Given the description of an element on the screen output the (x, y) to click on. 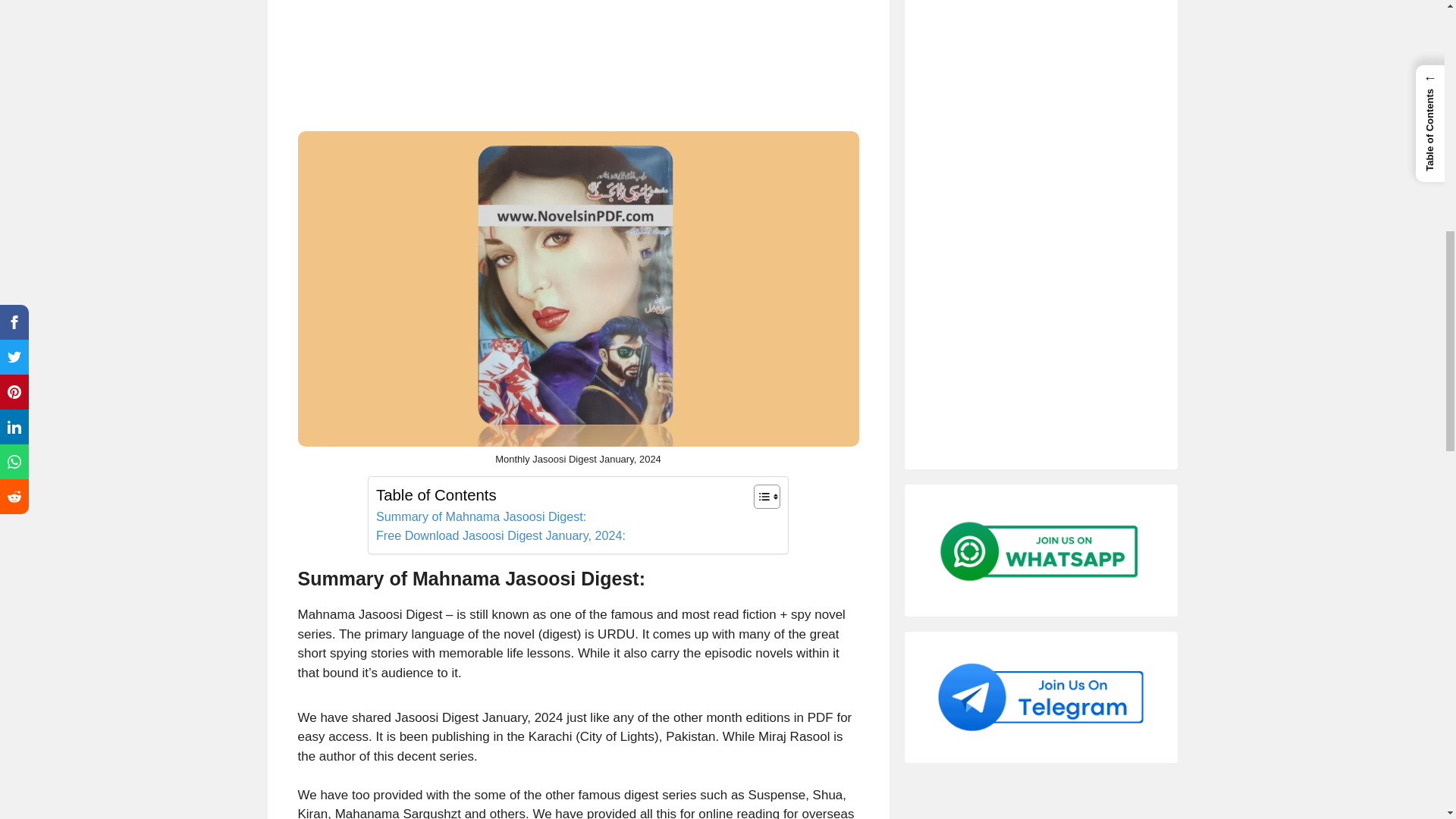
Free Download Jasoosi Digest January, 2024: (500, 536)
Advertisement (578, 62)
Summary of Mahnama Jasoosi Digest: (480, 516)
Free Download Jasoosi Digest January, 2024: (500, 536)
Summary of Mahnama Jasoosi Digest: (480, 516)
